Given the description of an element on the screen output the (x, y) to click on. 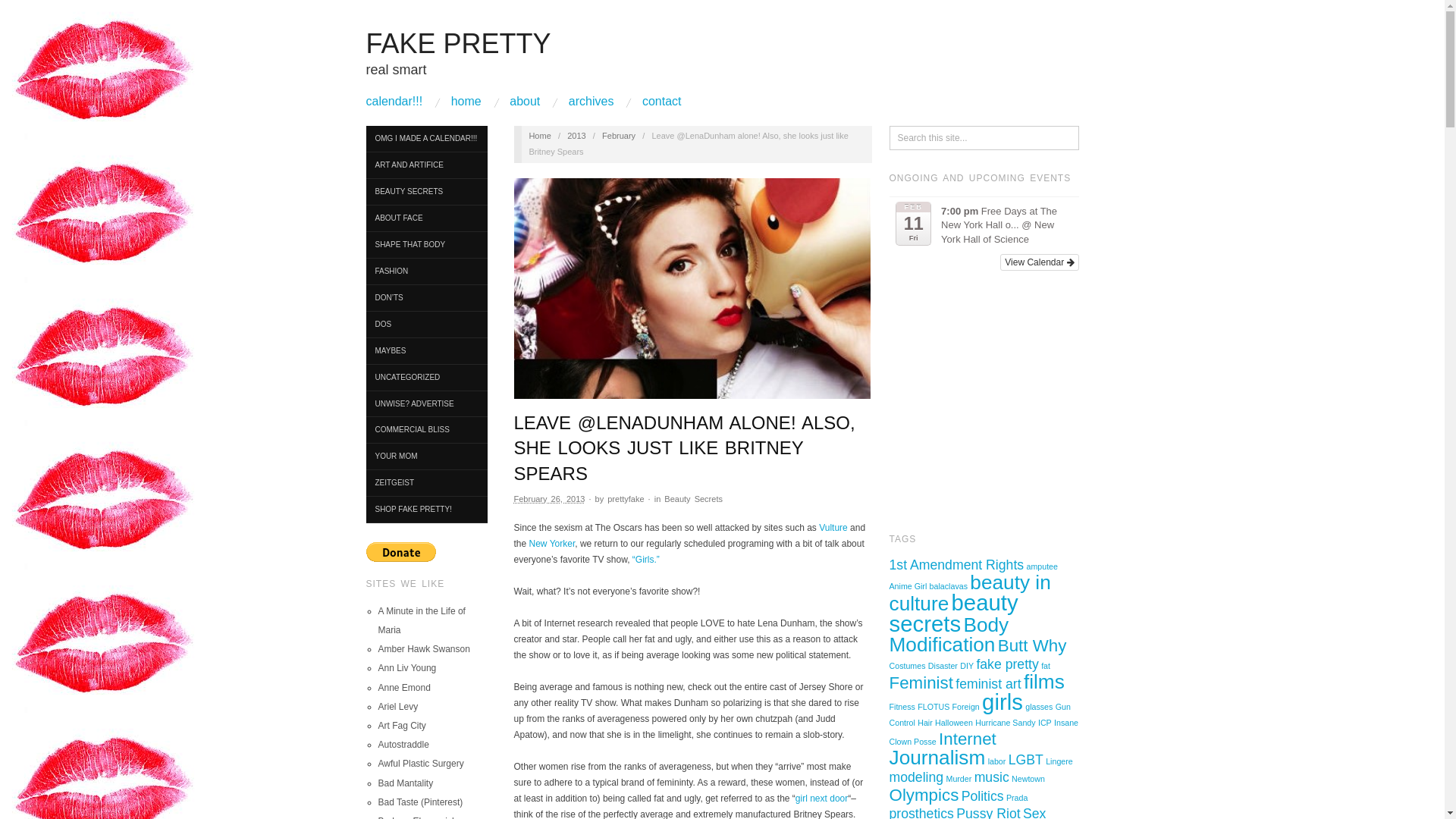
UNCATEGORIZED (425, 377)
SHAPE THAT BODY (425, 244)
ART AND ARTIFICE (425, 165)
Art Fag City (401, 725)
Anne Emond (403, 687)
Search this site... (984, 137)
OMG I MADE A CALENDAR!!! (425, 139)
ZEITGEIST (425, 483)
Ann Liv Young (406, 667)
Autostraddle (402, 744)
ABOUT FACE (425, 218)
February 2013 (618, 135)
Fake Pretty (539, 135)
prettyfake (625, 498)
contact (661, 101)
